Given the description of an element on the screen output the (x, y) to click on. 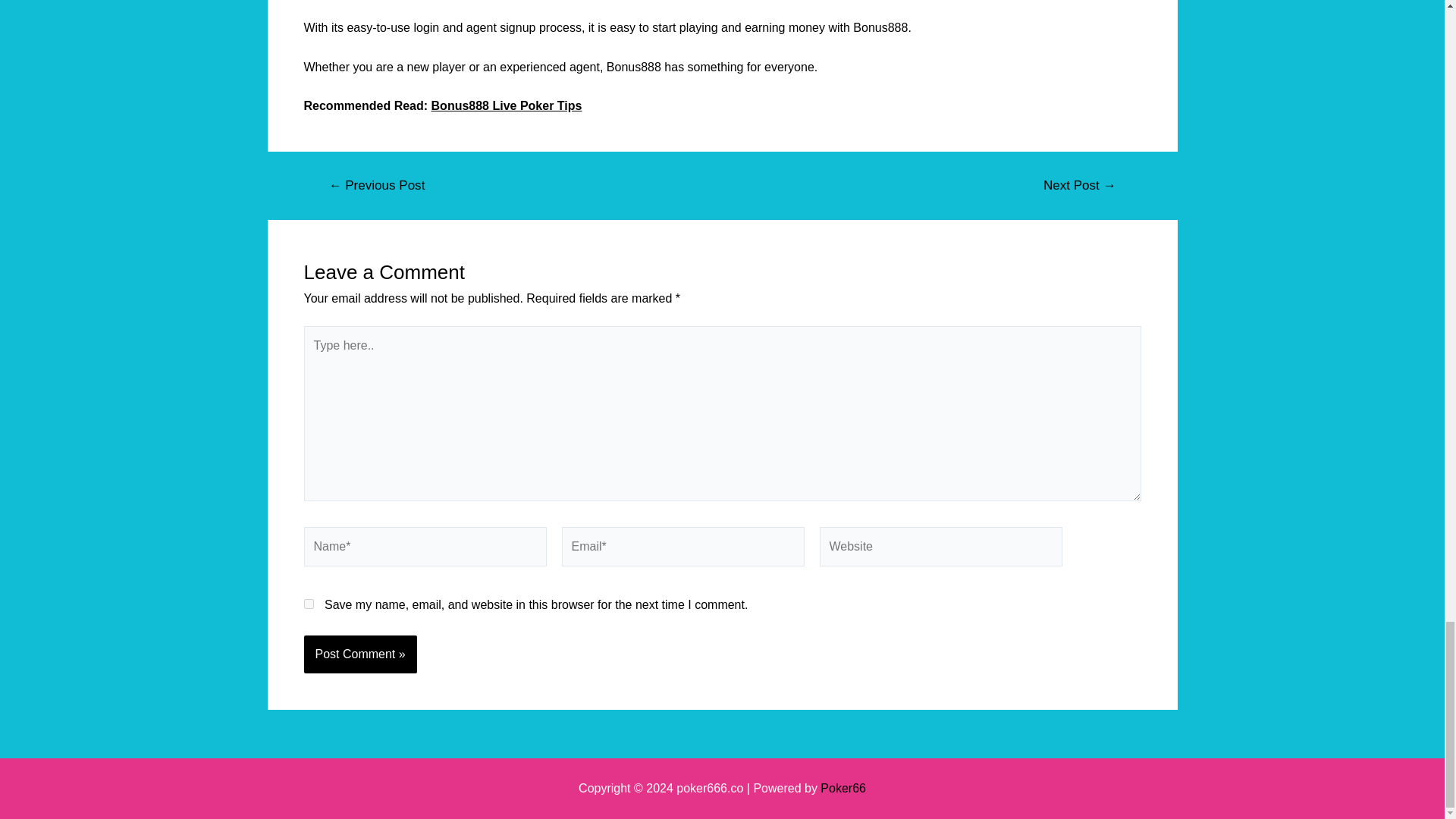
Bonus888 Live Poker Tips (506, 105)
yes (307, 603)
Poker66 (843, 788)
